Given the description of an element on the screen output the (x, y) to click on. 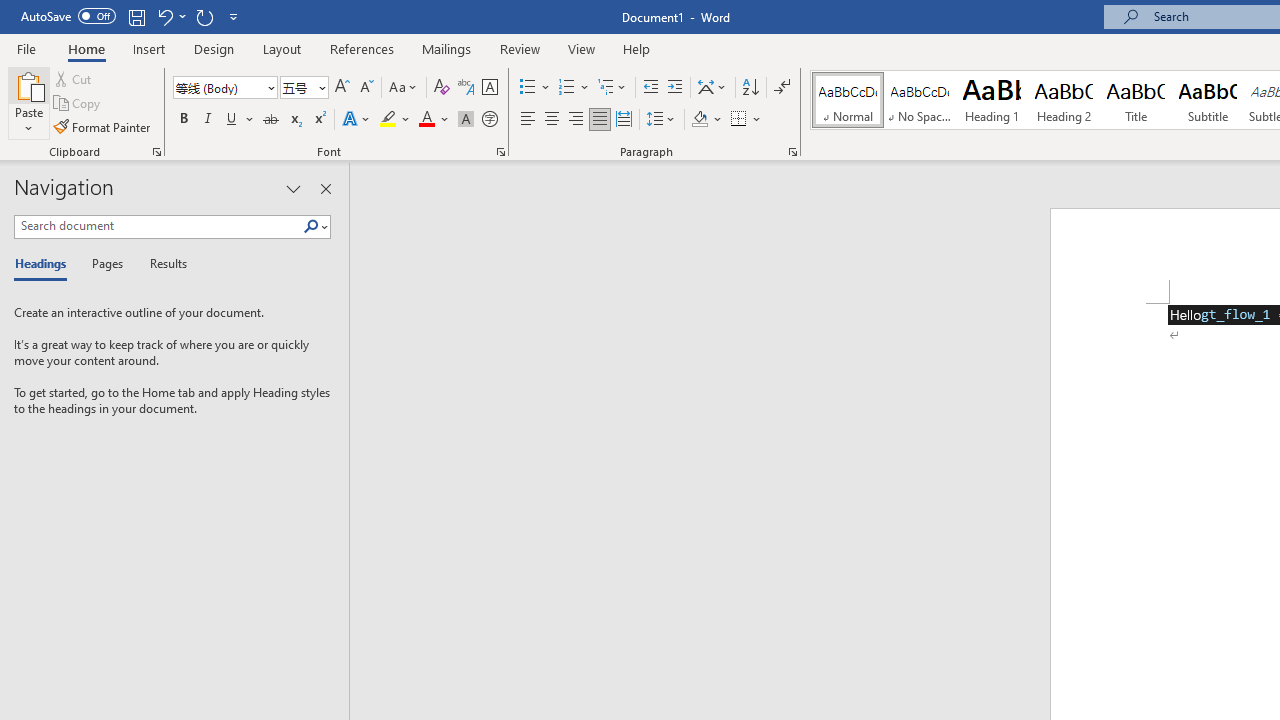
Font Color Red (426, 119)
